Given the description of an element on the screen output the (x, y) to click on. 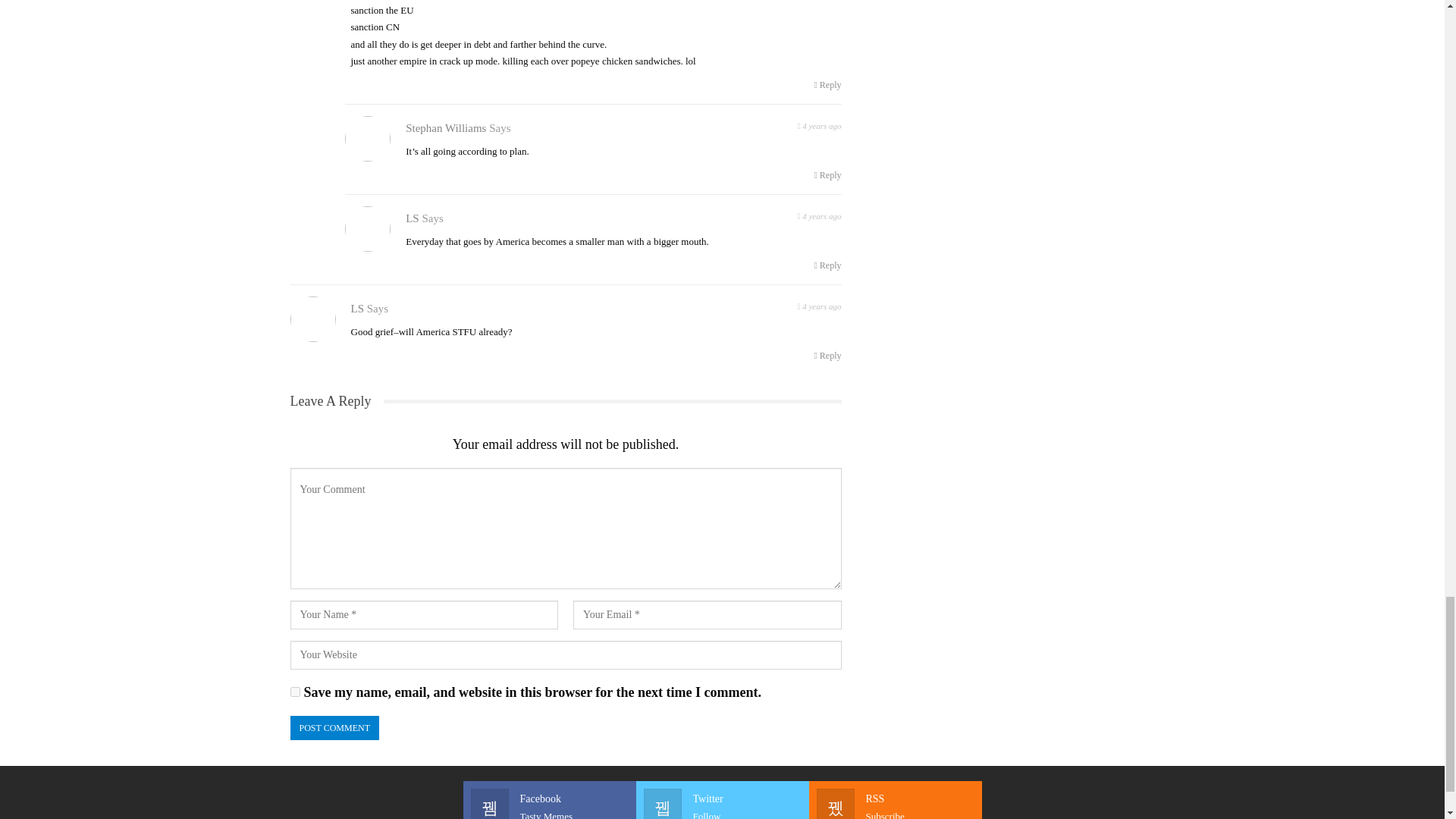
Sunday, December 27, 2020, 10:13 pm (721, 804)
yes (818, 124)
Reply (294, 691)
Sunday, December 27, 2020, 10:14 pm (827, 264)
Reply (818, 214)
Reply (827, 355)
Reply (894, 804)
Sunday, December 27, 2020, 9:55 pm (827, 84)
Post Comment (548, 804)
Post Comment (827, 174)
